Given the description of an element on the screen output the (x, y) to click on. 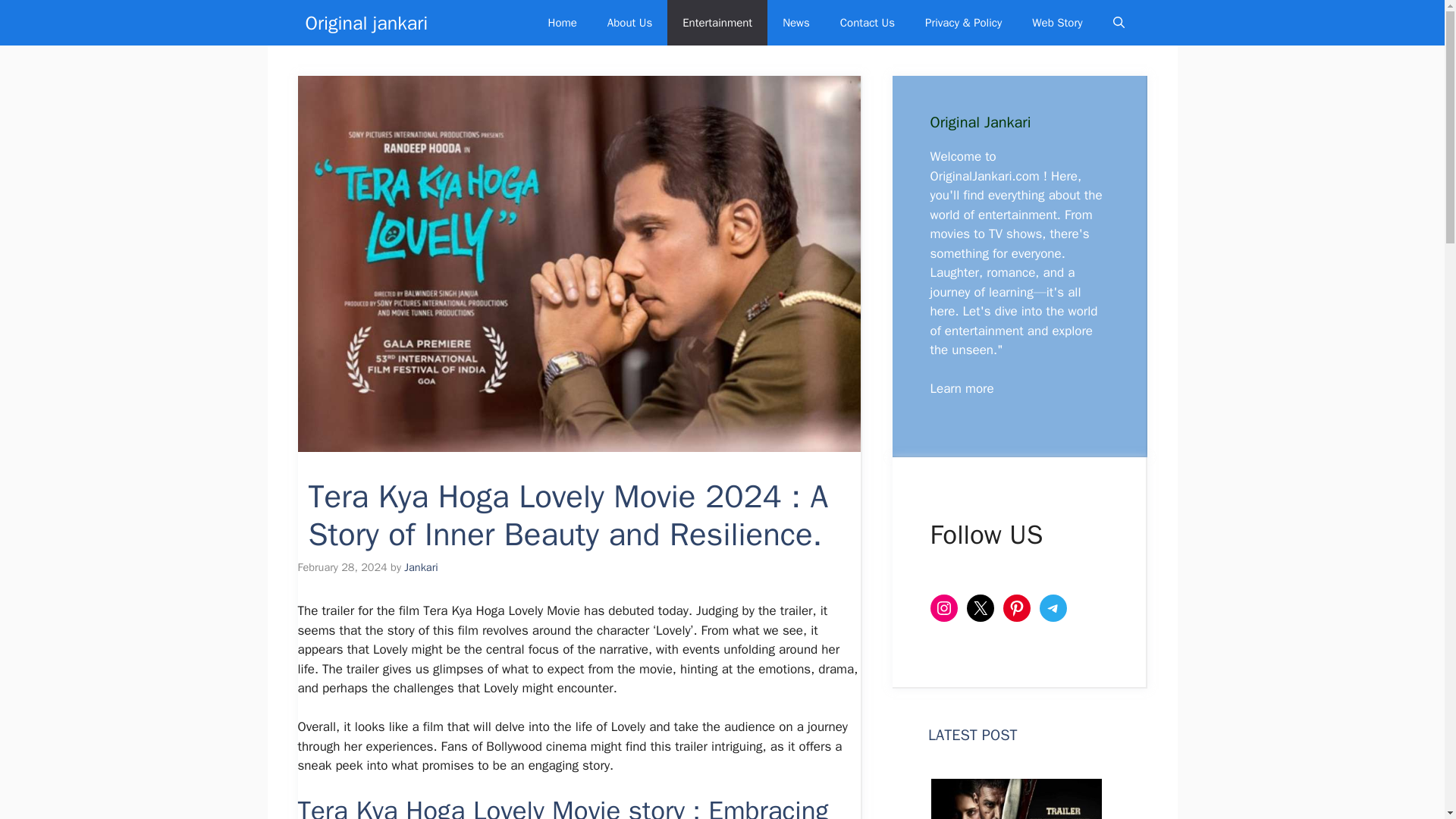
X (979, 607)
Home (561, 22)
Original jankari (366, 22)
News (796, 22)
Instagram (943, 607)
Entertainment (716, 22)
About Us (629, 22)
Contact Us (867, 22)
Pinterest (1016, 607)
Jankari (421, 567)
View all posts by Jankari (421, 567)
Web Story (1056, 22)
Telegram (1052, 607)
